Given the description of an element on the screen output the (x, y) to click on. 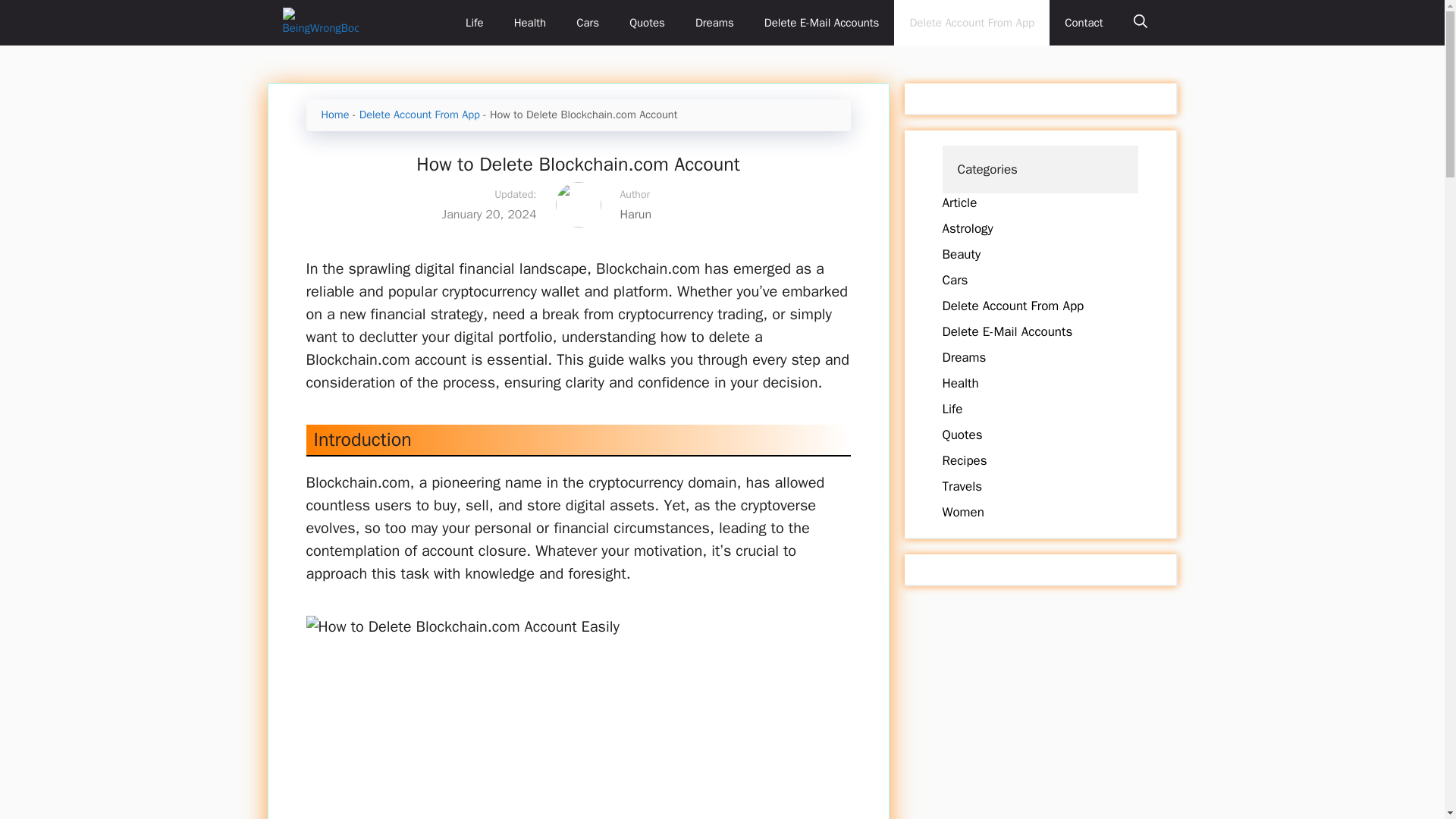
Cars (955, 279)
Cars (587, 22)
Article (959, 202)
View all posts by Harun (725, 213)
Recipes (964, 460)
Quotes (646, 22)
Harun (725, 213)
Contact (1083, 22)
Astrology (967, 228)
Delete Account From App (419, 114)
Health (960, 383)
Home (335, 114)
Health (530, 22)
Dreams (963, 357)
Travels (961, 486)
